Given the description of an element on the screen output the (x, y) to click on. 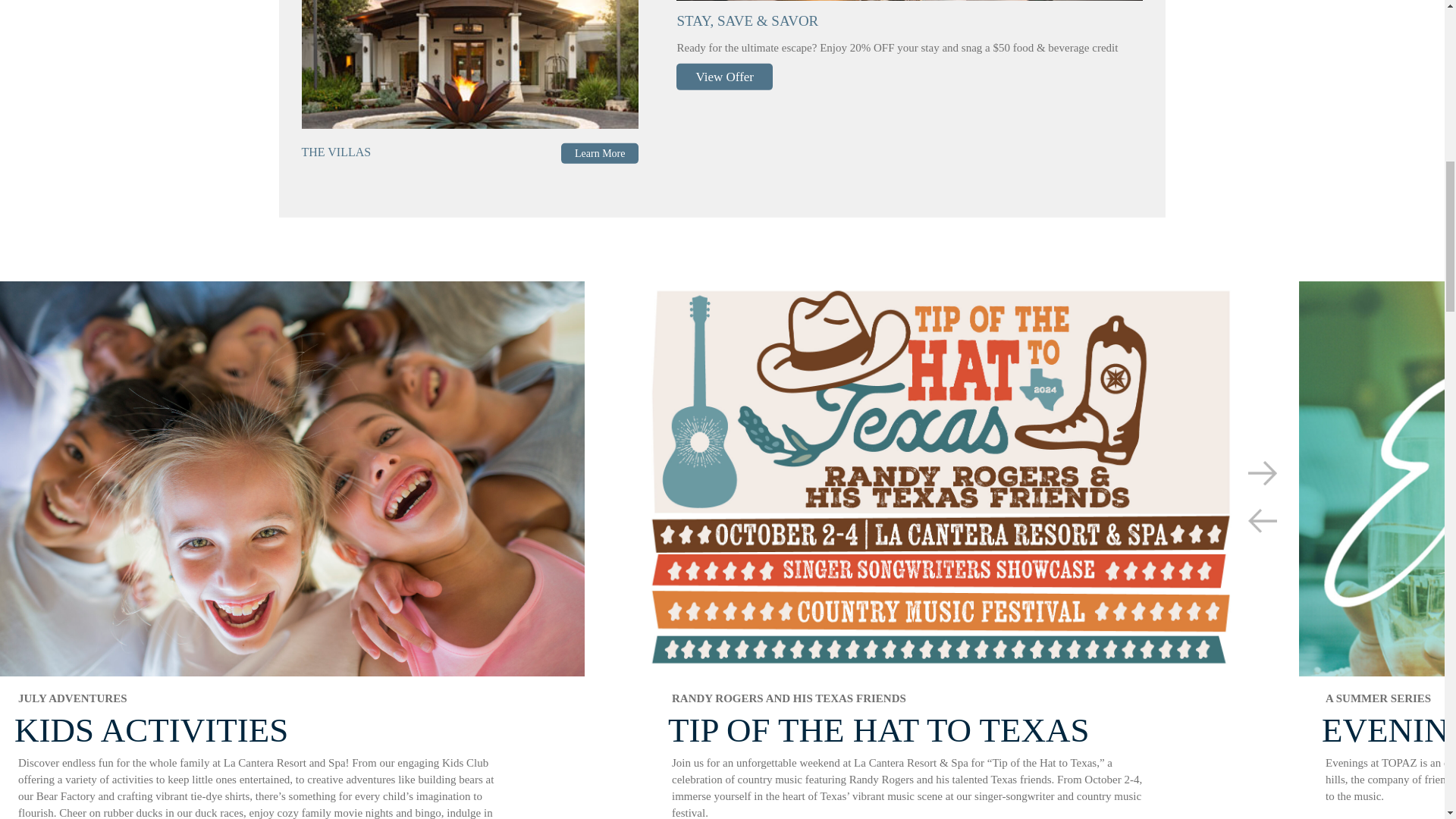
View Offer (725, 76)
Learn More (599, 153)
THE VILLAS (341, 151)
villas (470, 64)
